Given the description of an element on the screen output the (x, y) to click on. 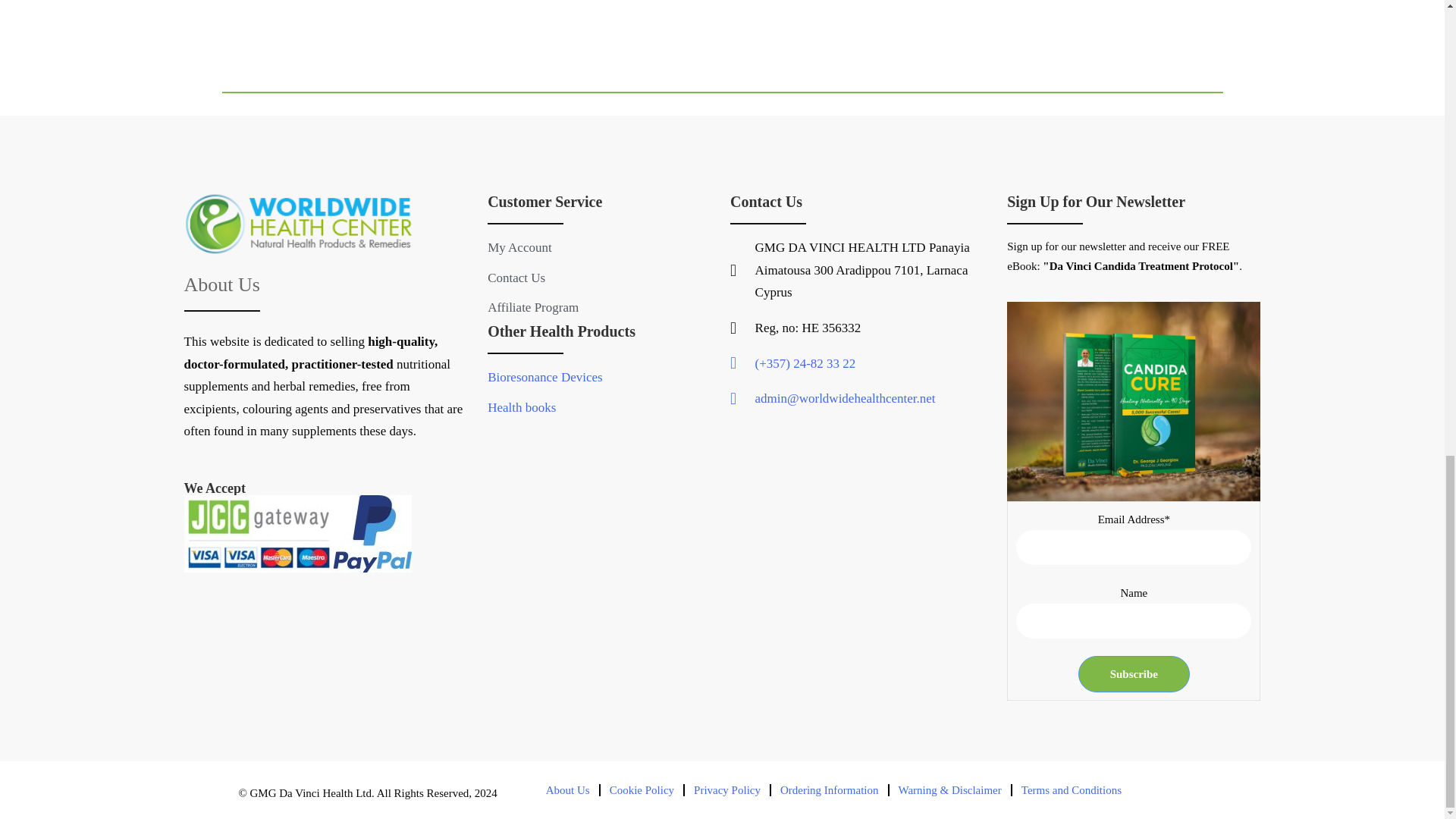
Subscribe (1133, 674)
